Given the description of an element on the screen output the (x, y) to click on. 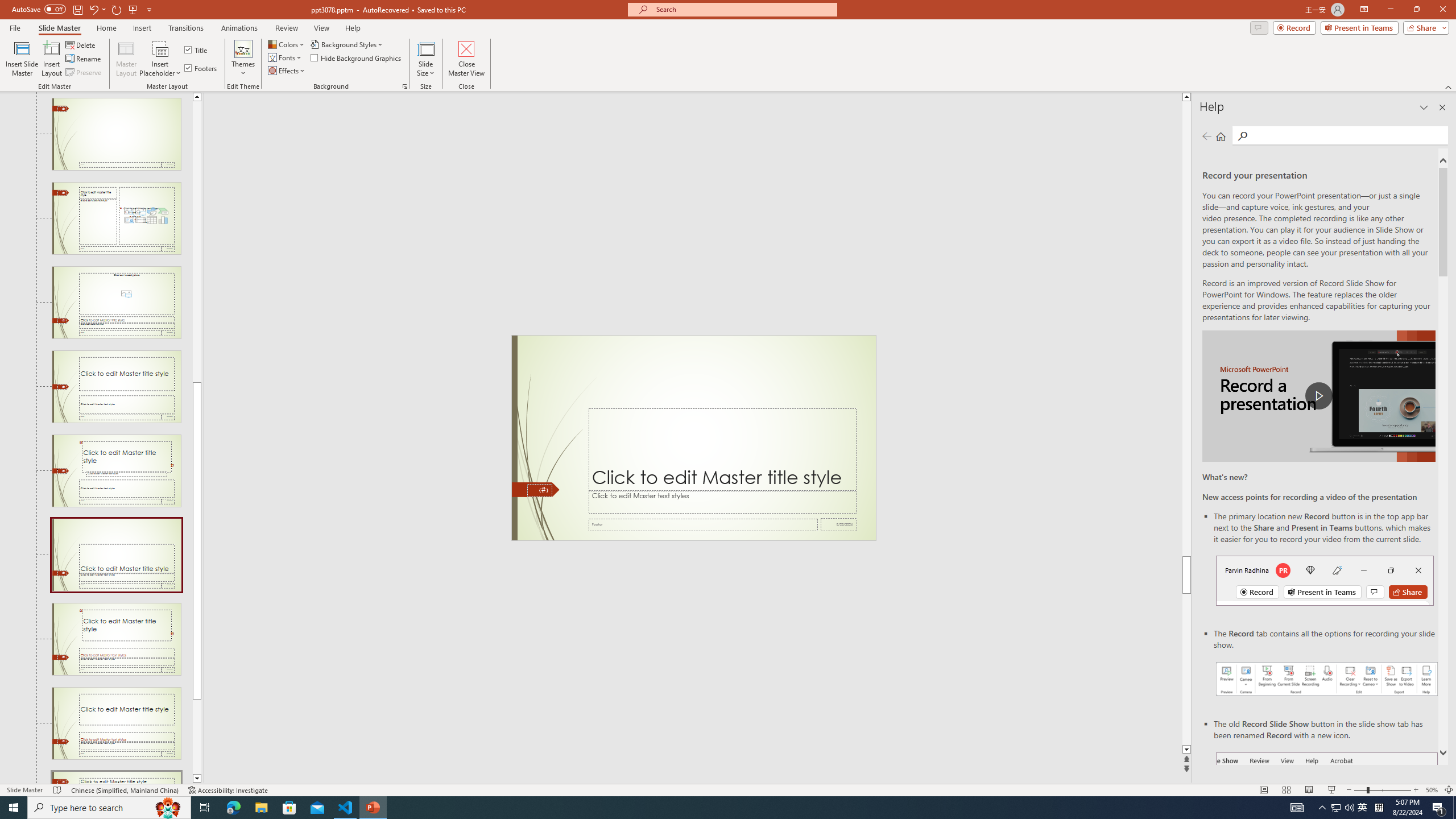
Insert Slide Master (21, 58)
Slide Picture with Caption Layout: used by no slides (116, 302)
Date (839, 524)
